Given the description of an element on the screen output the (x, y) to click on. 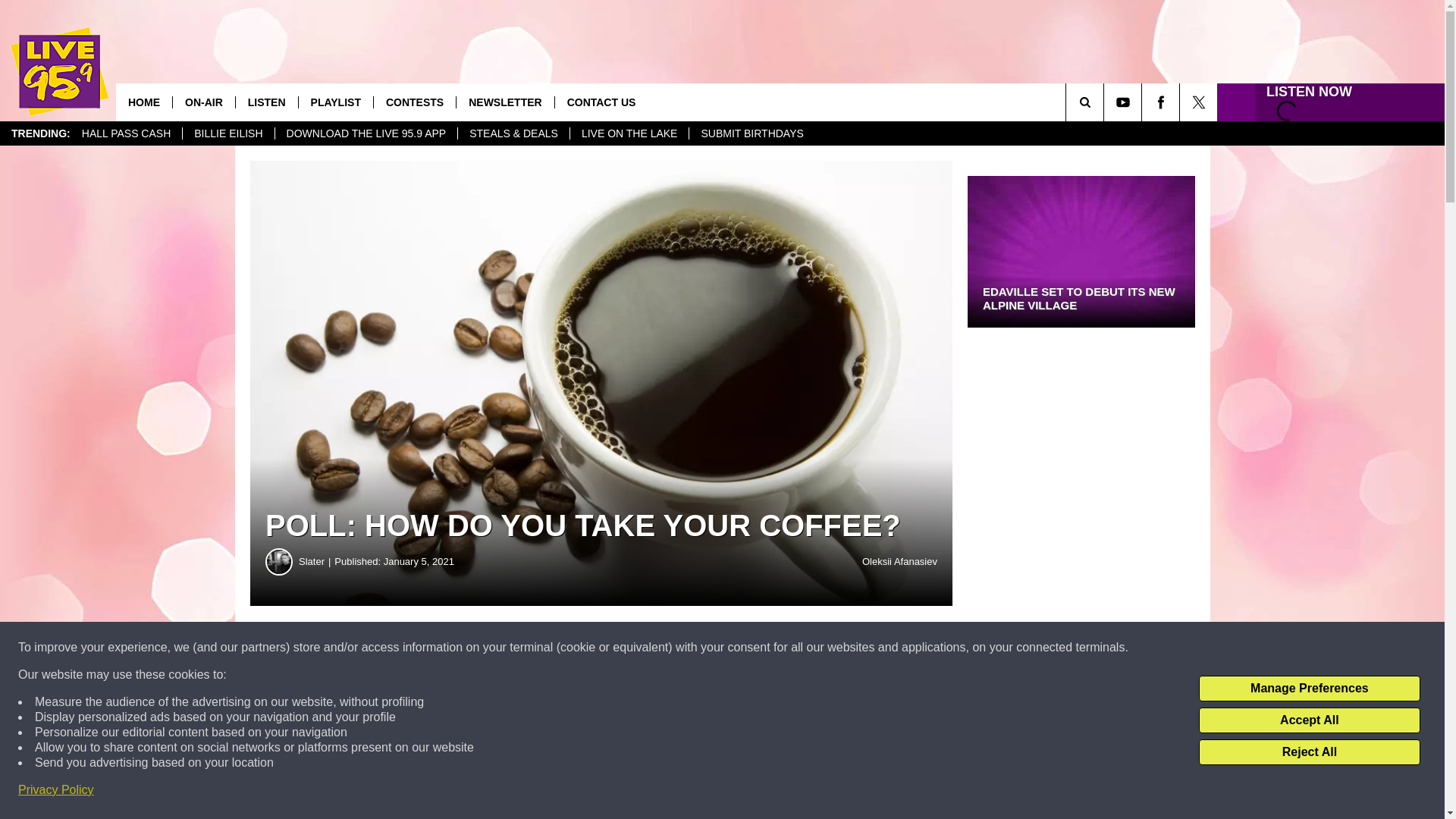
LIVE ON THE LAKE (628, 133)
Share on Twitter (741, 647)
NEWSLETTER (504, 102)
SUBMIT BIRTHDAYS (750, 133)
LISTEN (266, 102)
HOME (143, 102)
ON-AIR (202, 102)
CONTESTS (413, 102)
Reject All (1309, 751)
PLAYLIST (335, 102)
